Given the description of an element on the screen output the (x, y) to click on. 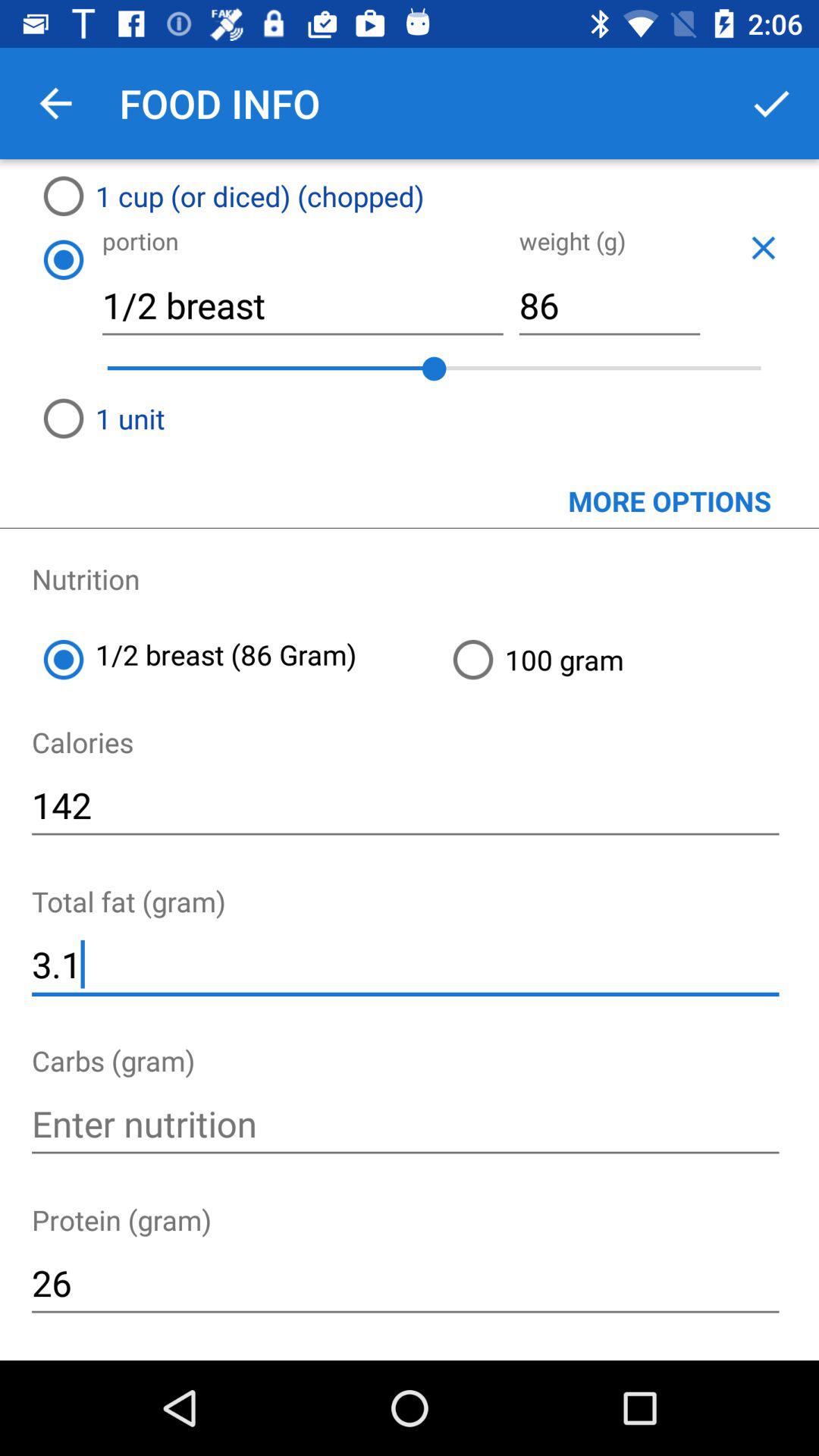
open icon below the total fat (gram) item (405, 965)
